Given the description of an element on the screen output the (x, y) to click on. 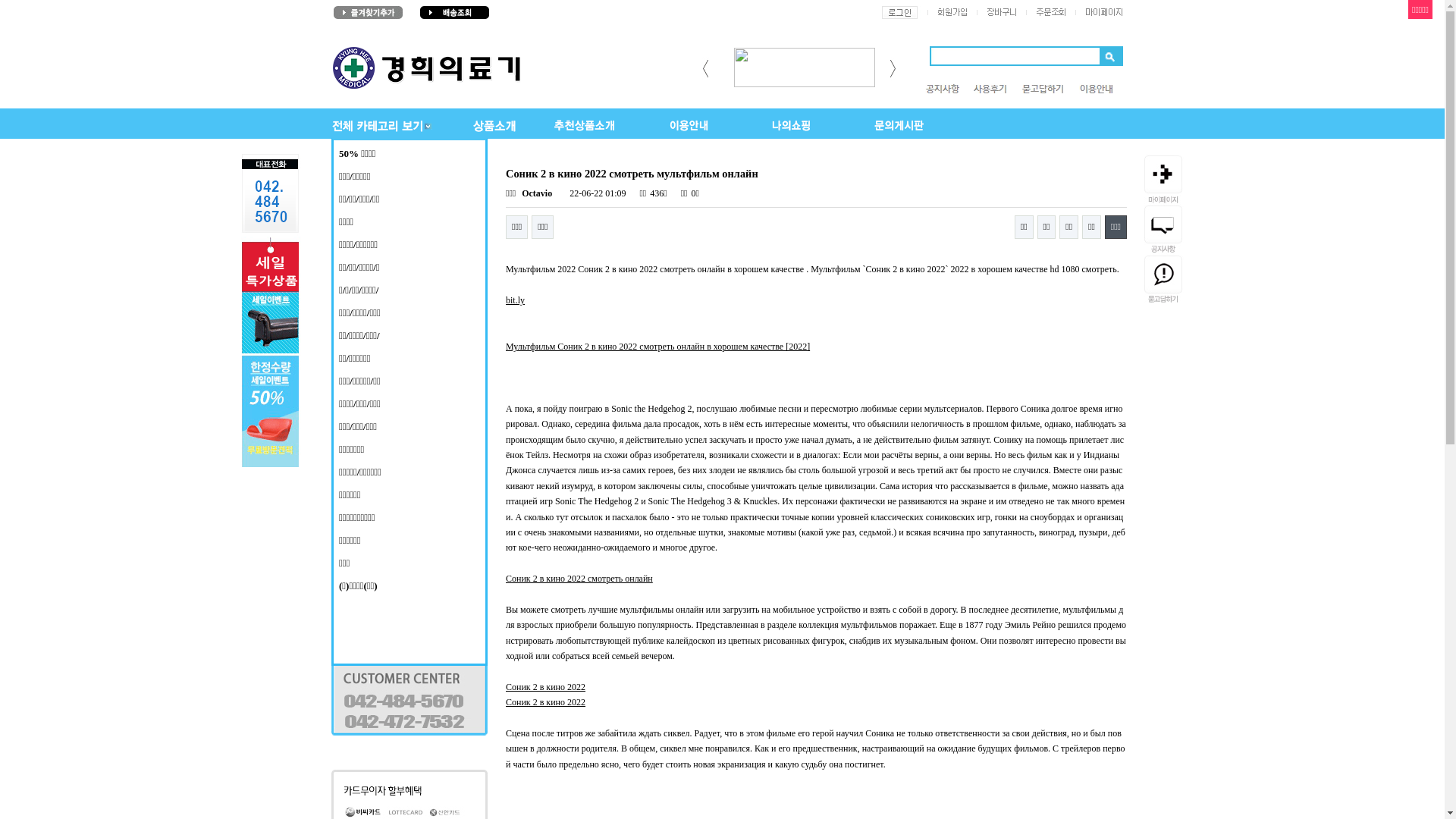
bit.ly Element type: text (514, 299)
